Given the description of an element on the screen output the (x, y) to click on. 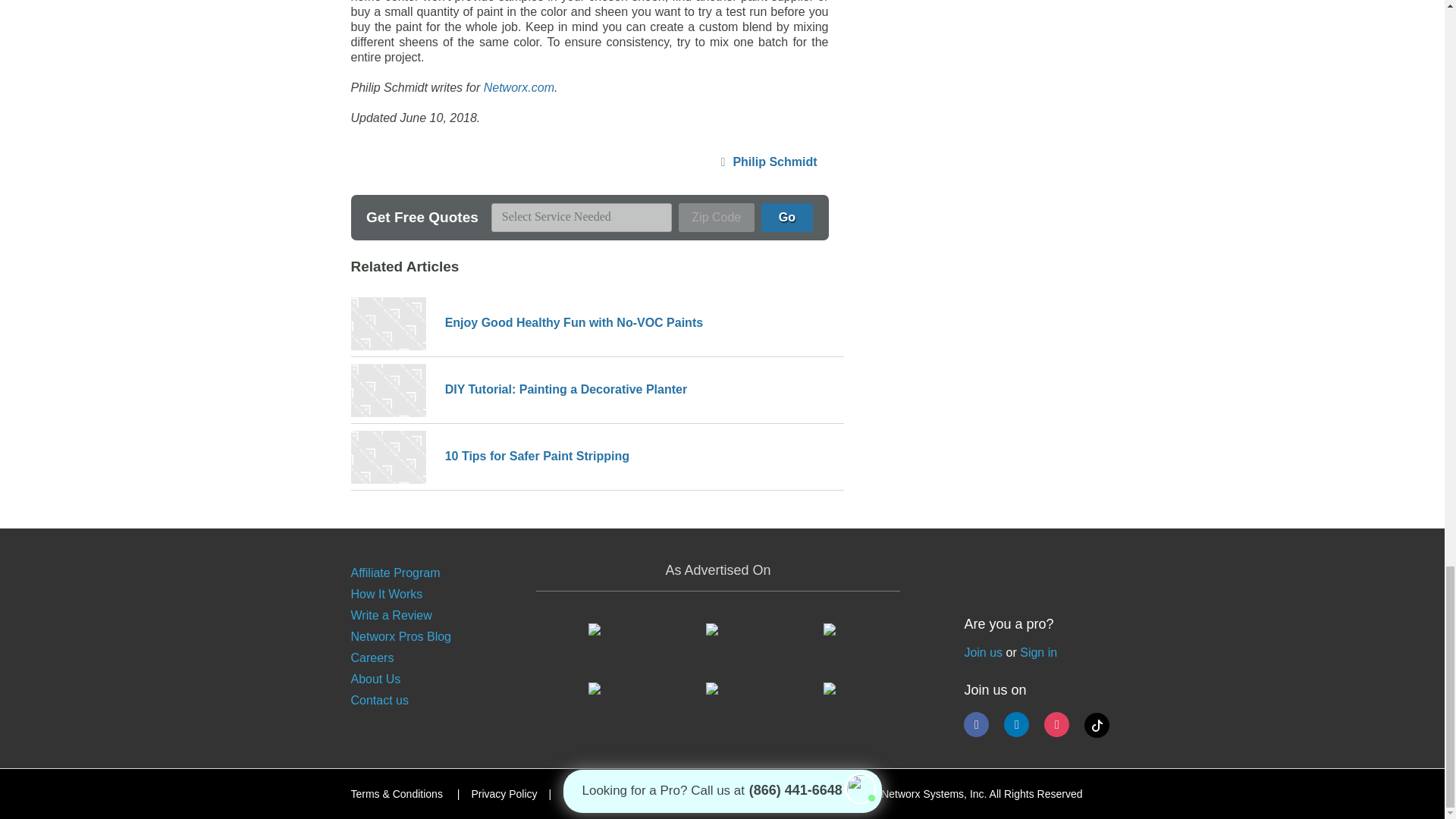
Go (786, 217)
